Given the description of an element on the screen output the (x, y) to click on. 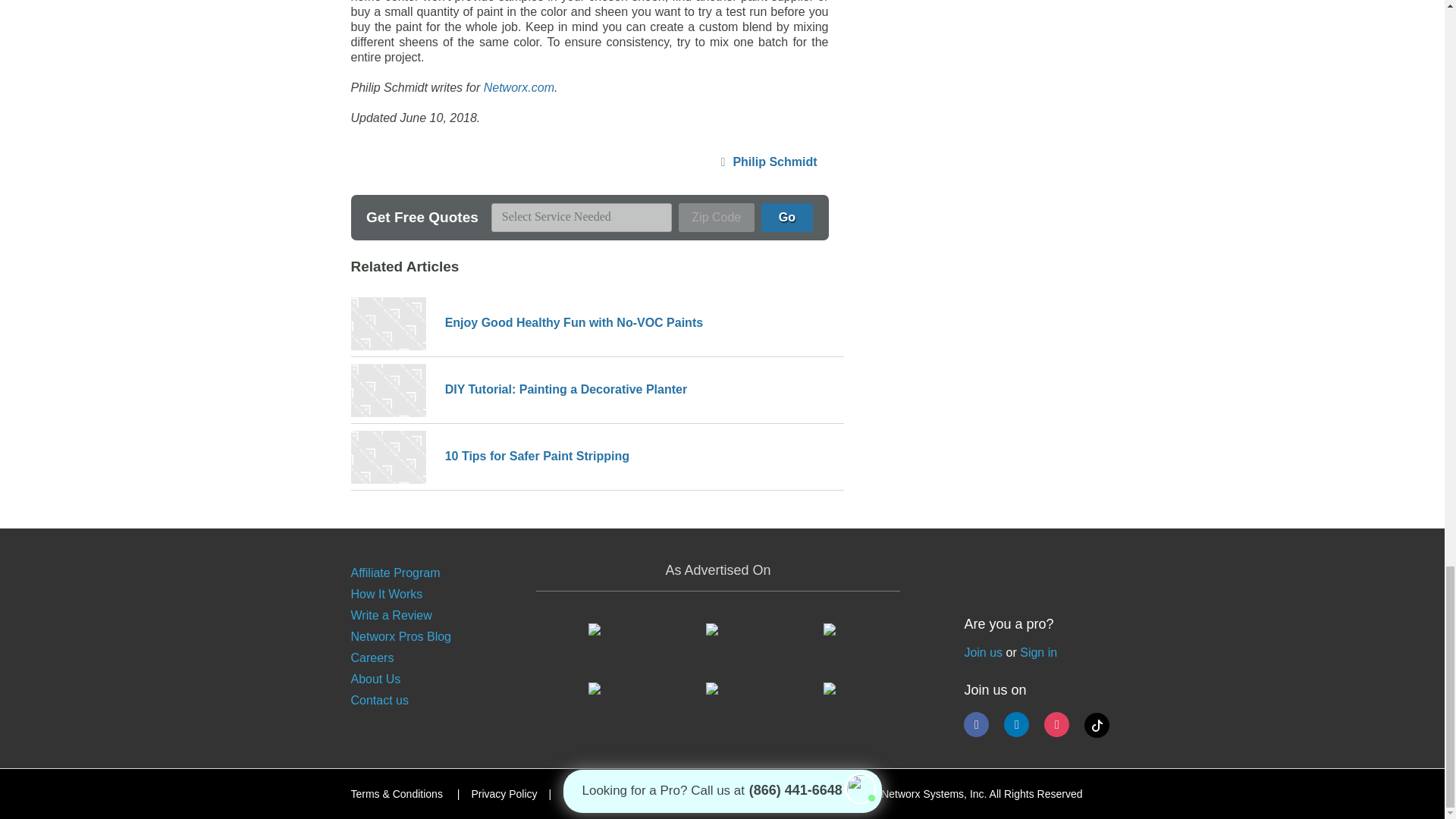
Go (786, 217)
